Given the description of an element on the screen output the (x, y) to click on. 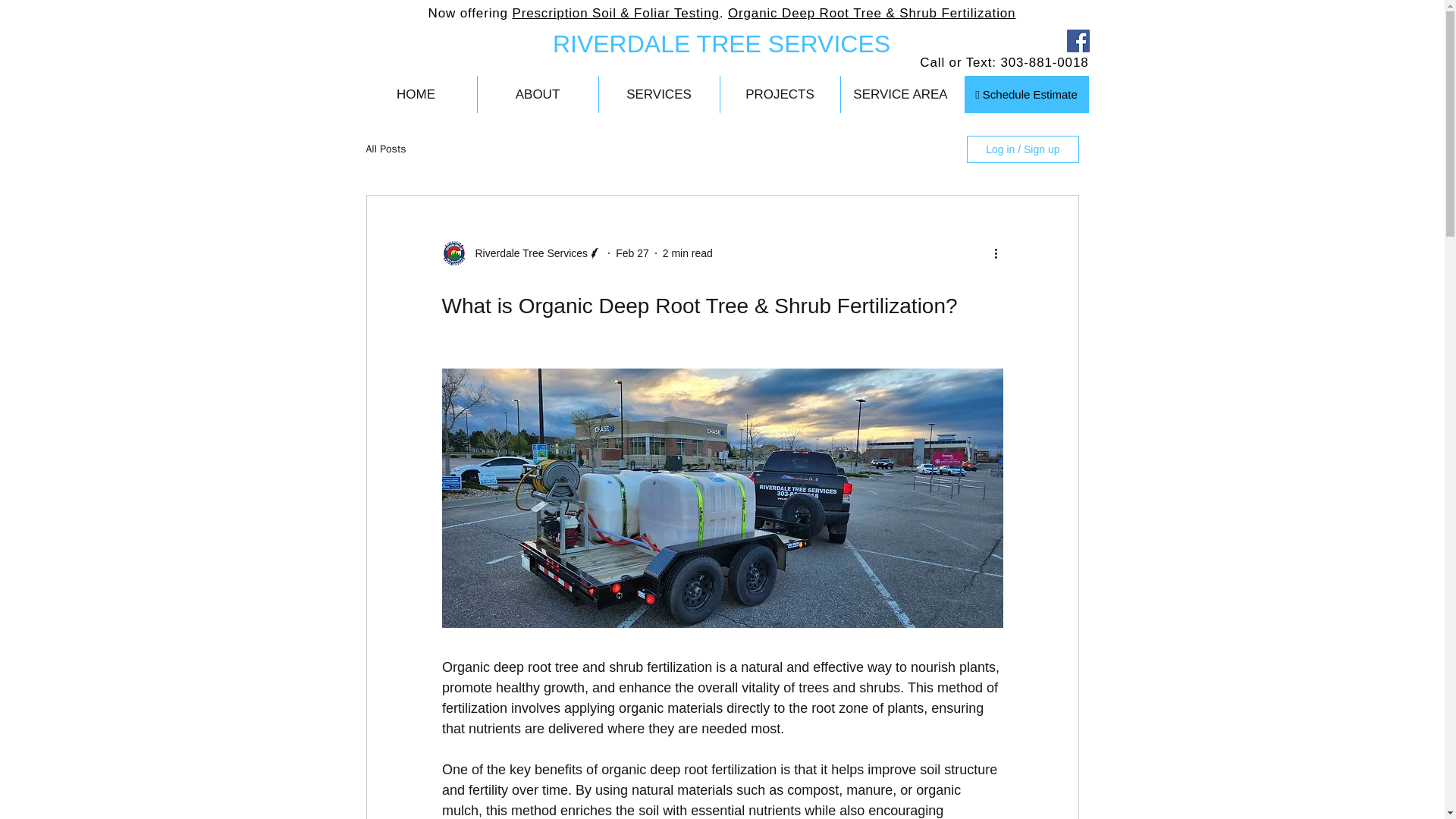
2 min read (687, 253)
PROJECTS (779, 94)
Feb 27 (632, 253)
Call or Text: 303-881-0018 (1003, 62)
All Posts (385, 149)
HOME (415, 94)
Riverdale Tree Services (526, 253)
